Given the description of an element on the screen output the (x, y) to click on. 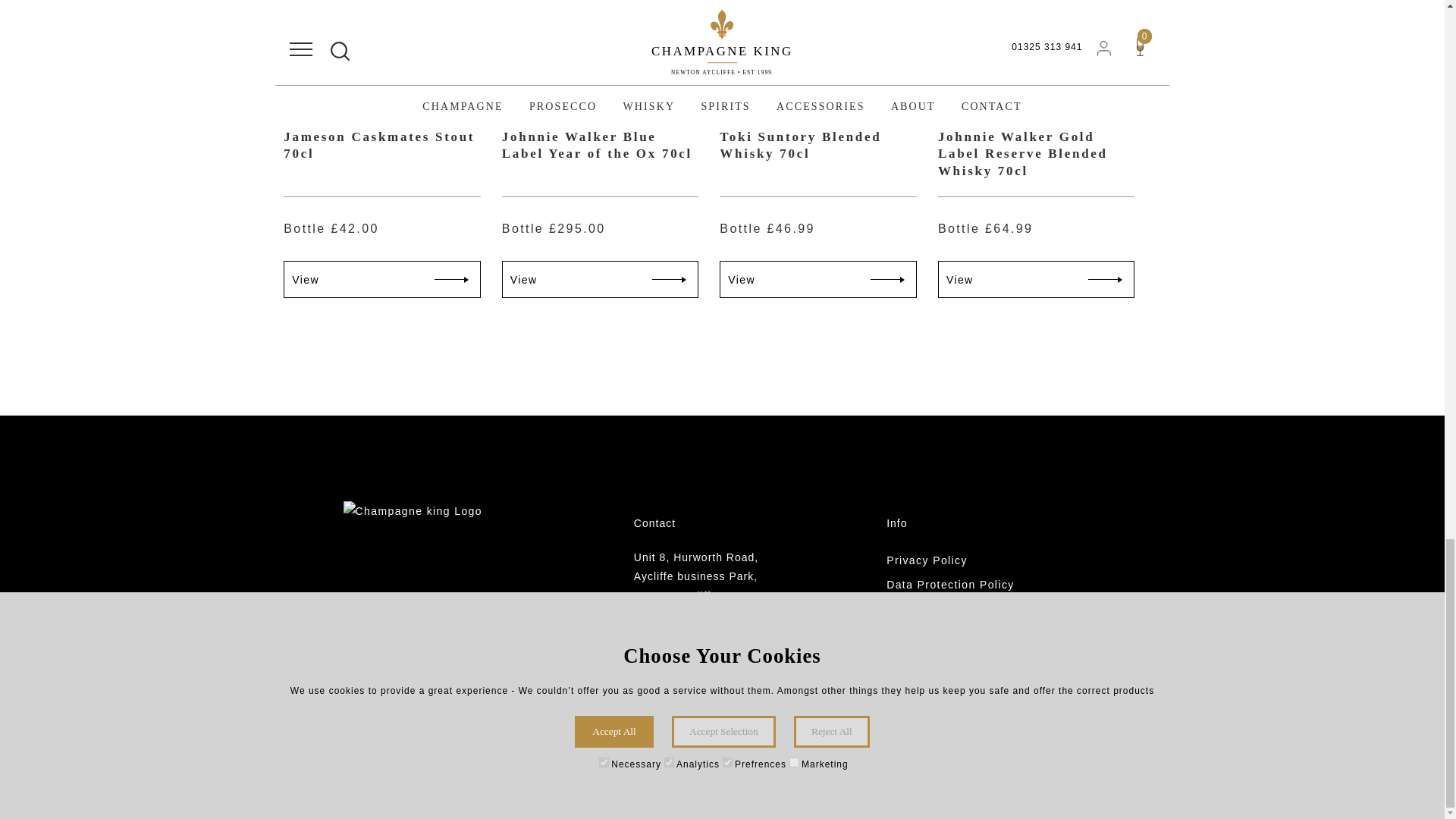
Terms and Conditions (974, 632)
Track Order (974, 681)
Sitemap (974, 730)
Data Protection Policy (974, 584)
Delivery (974, 657)
Contact Us (974, 705)
Privacy Policy (974, 559)
Cookies Policy (974, 608)
